Given the description of an element on the screen output the (x, y) to click on. 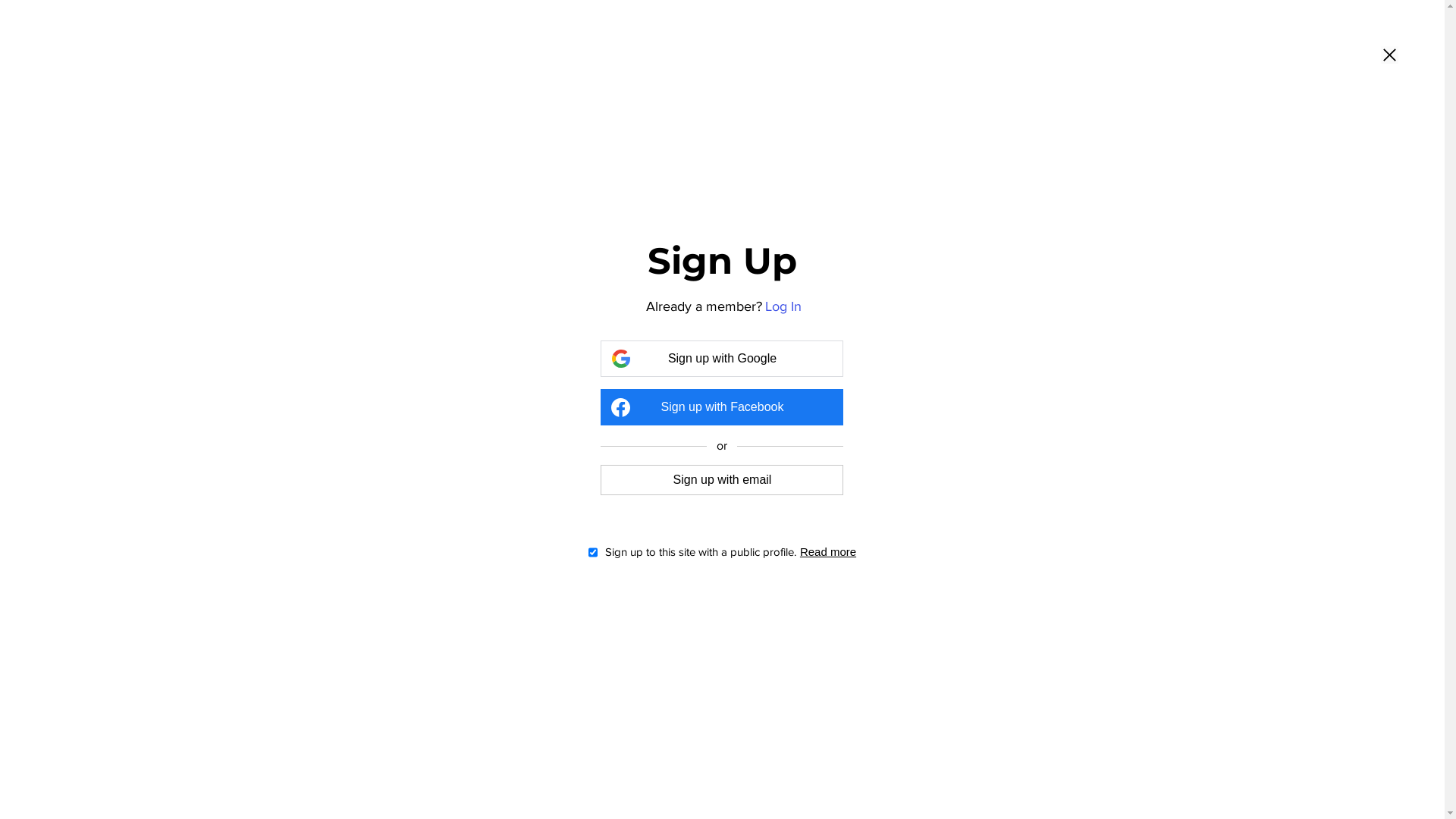
Sign up with Google Element type: text (721, 358)
Sign up with Facebook Element type: text (721, 407)
Log In Element type: text (784, 306)
Sign up with email Element type: text (721, 479)
Read more Element type: text (830, 551)
